Given the description of an element on the screen output the (x, y) to click on. 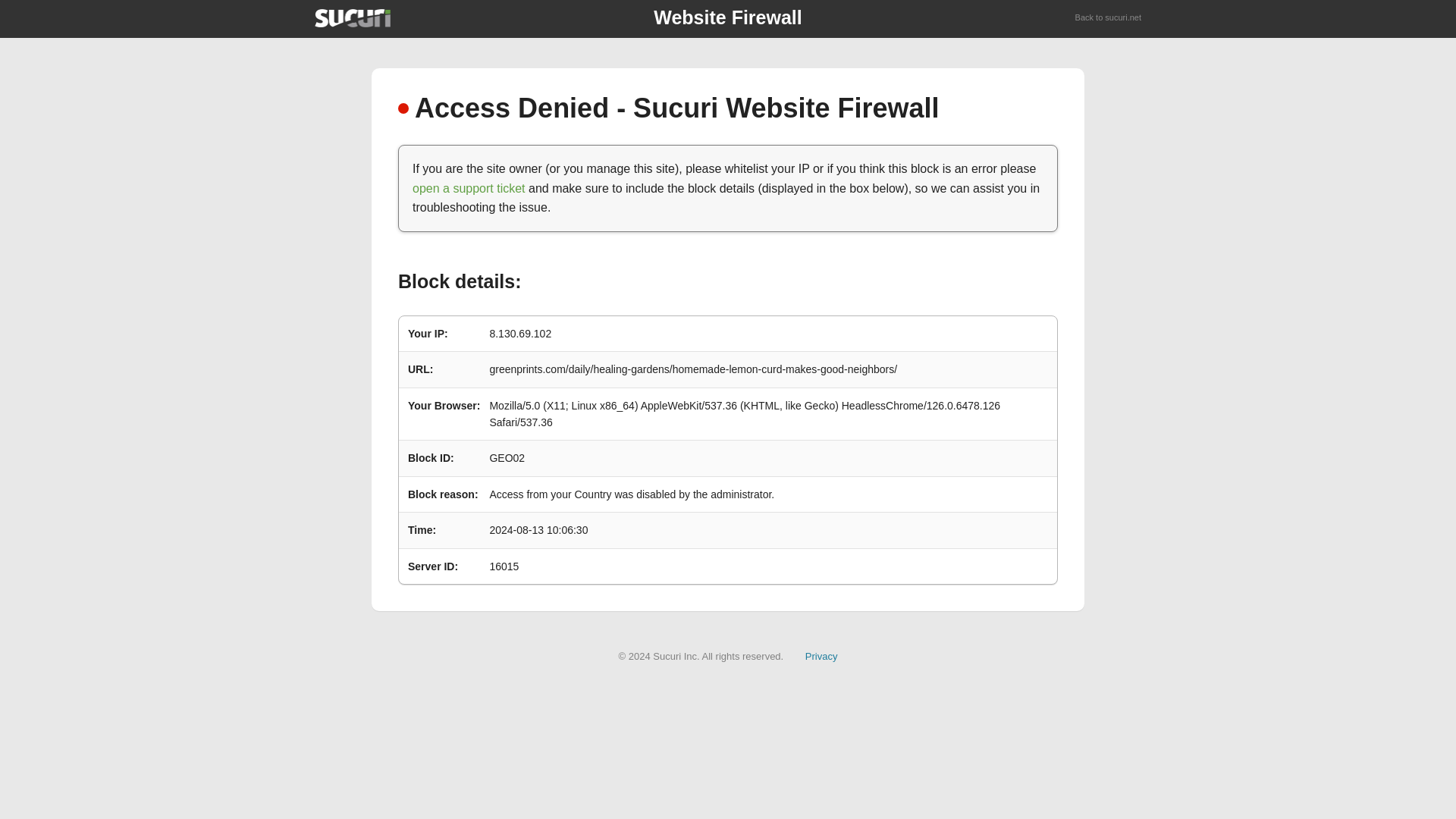
Privacy (821, 655)
open a support ticket (468, 187)
Back to sucuri.net (1108, 18)
